Given the description of an element on the screen output the (x, y) to click on. 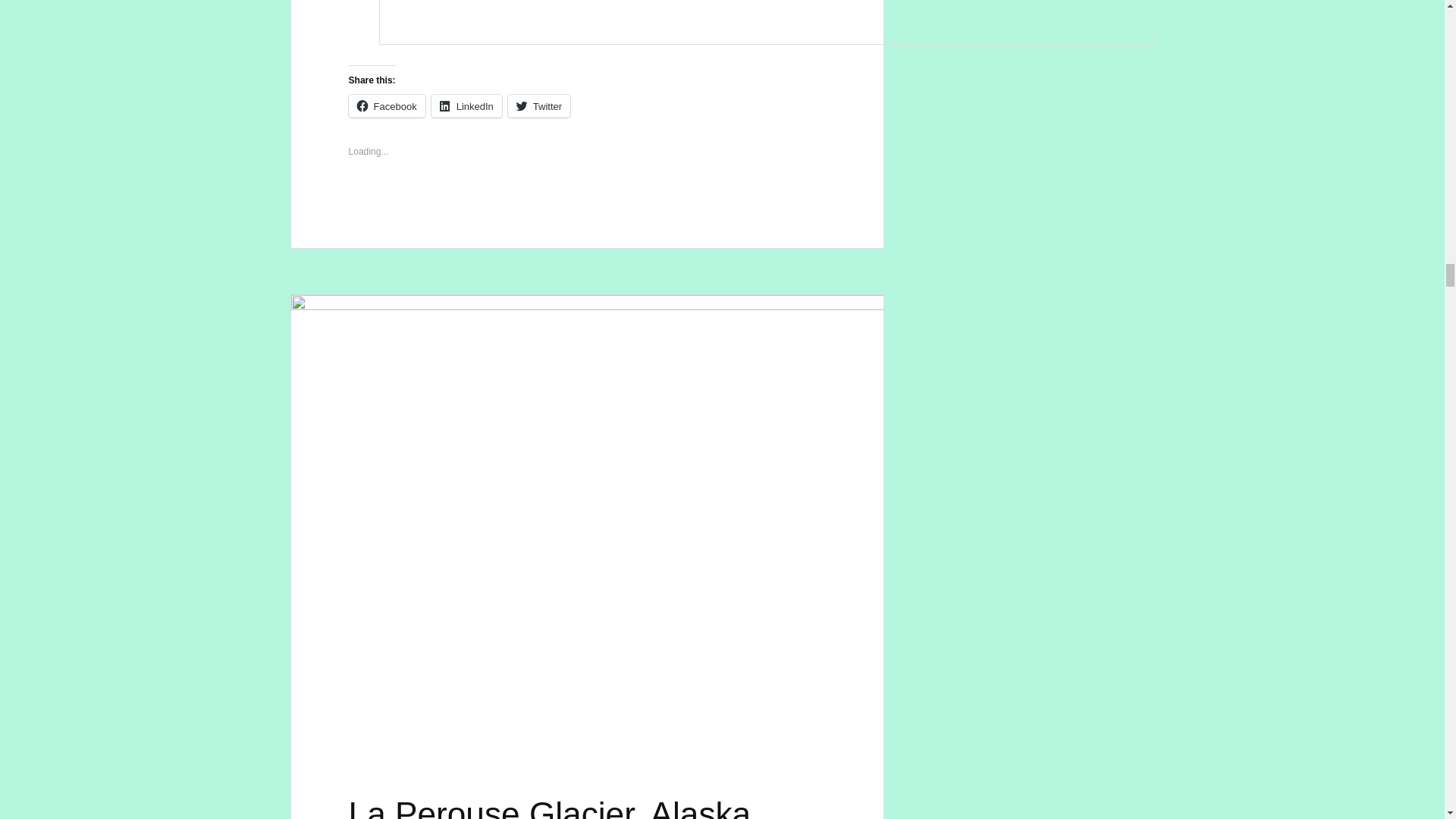
Click to share on Facebook (387, 106)
Click to share on Twitter (539, 106)
Click to share on LinkedIn (466, 106)
